Given the description of an element on the screen output the (x, y) to click on. 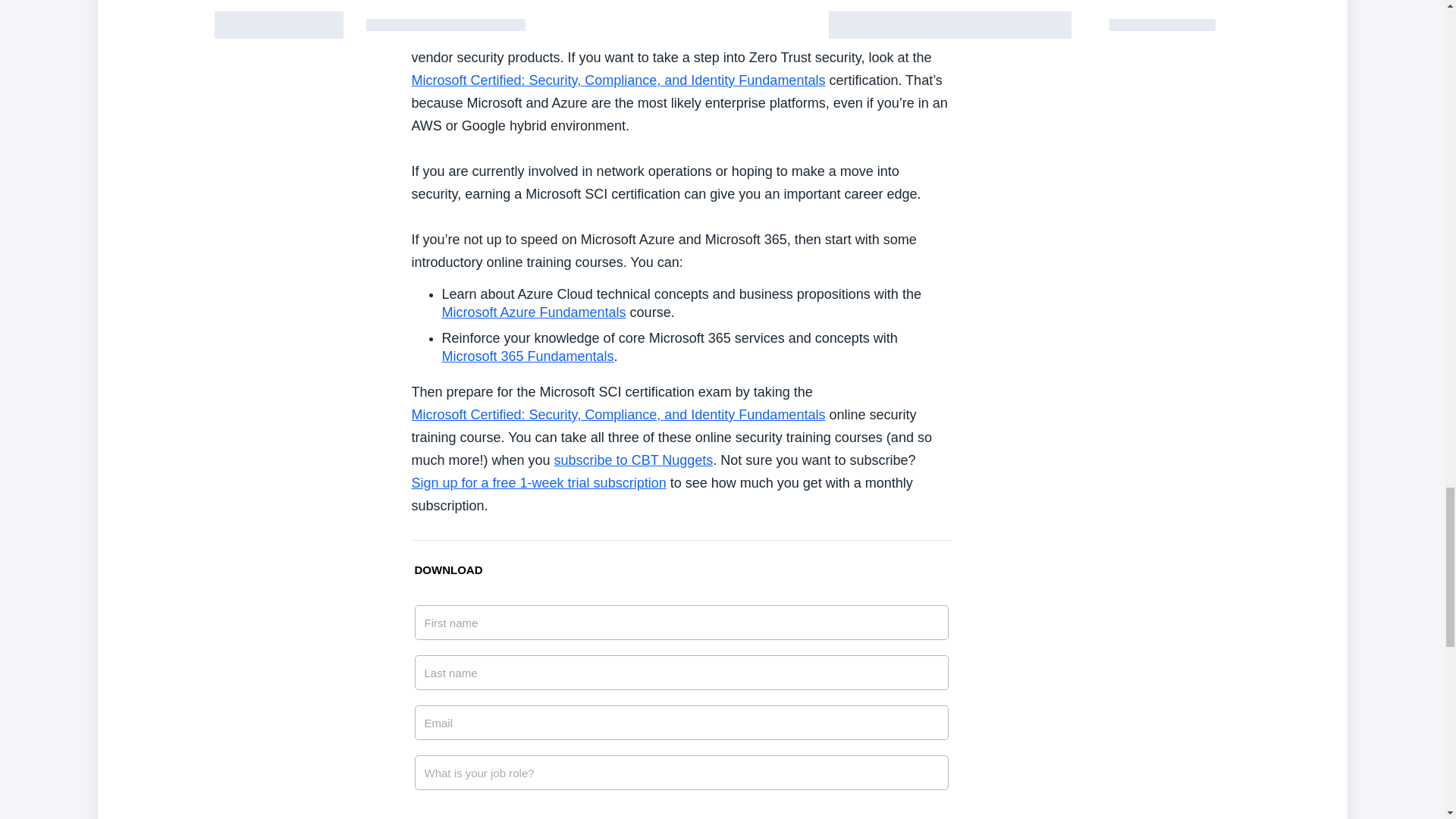
subscribe to CBT Nuggets (633, 459)
Sign up for a free 1-week trial subscription (537, 482)
Microsoft 365 Fundamentals (526, 355)
Microsoft Azure Fundamentals (533, 312)
